Given the description of an element on the screen output the (x, y) to click on. 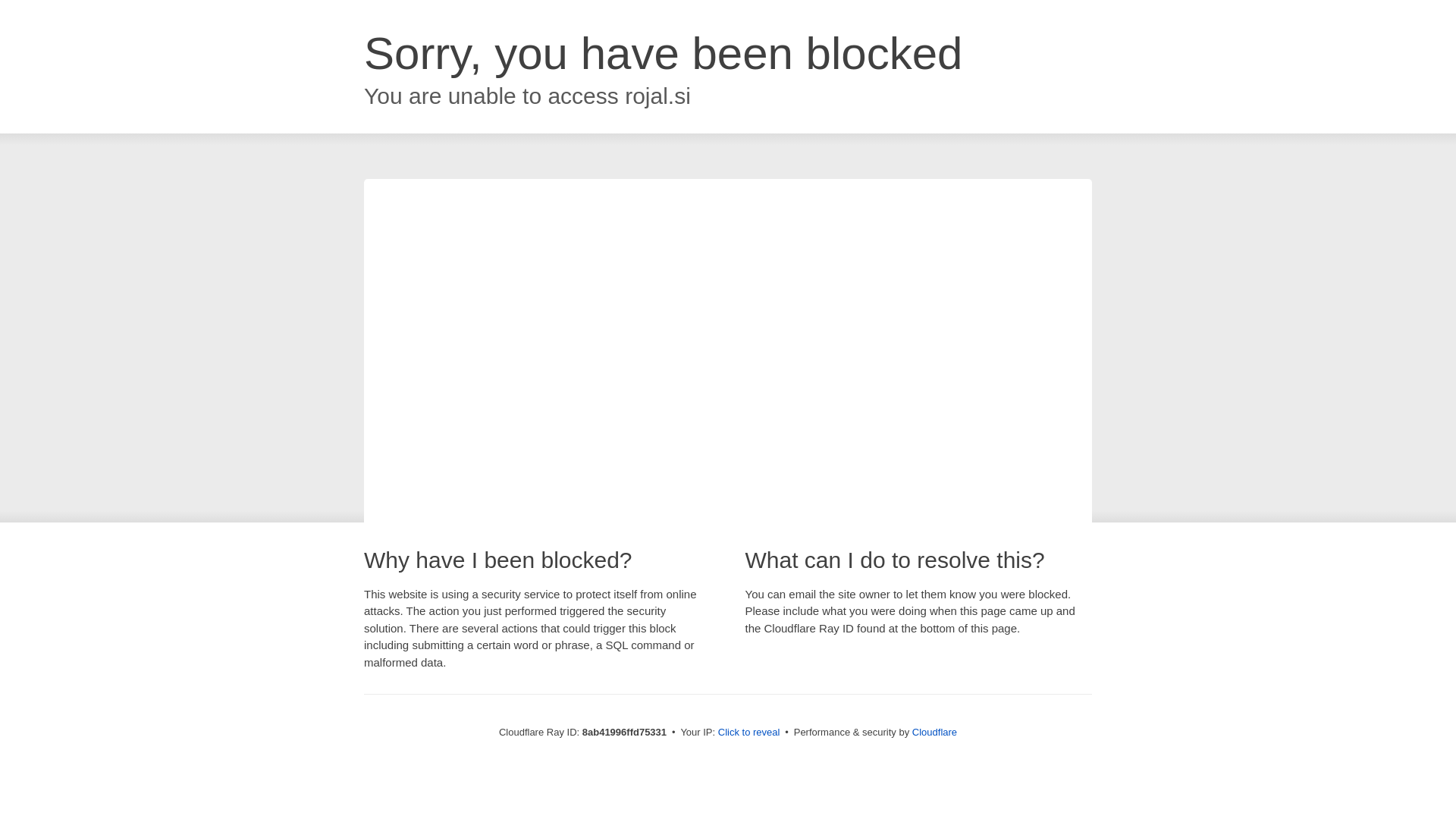
Click to reveal (748, 732)
Cloudflare (934, 731)
